Given the description of an element on the screen output the (x, y) to click on. 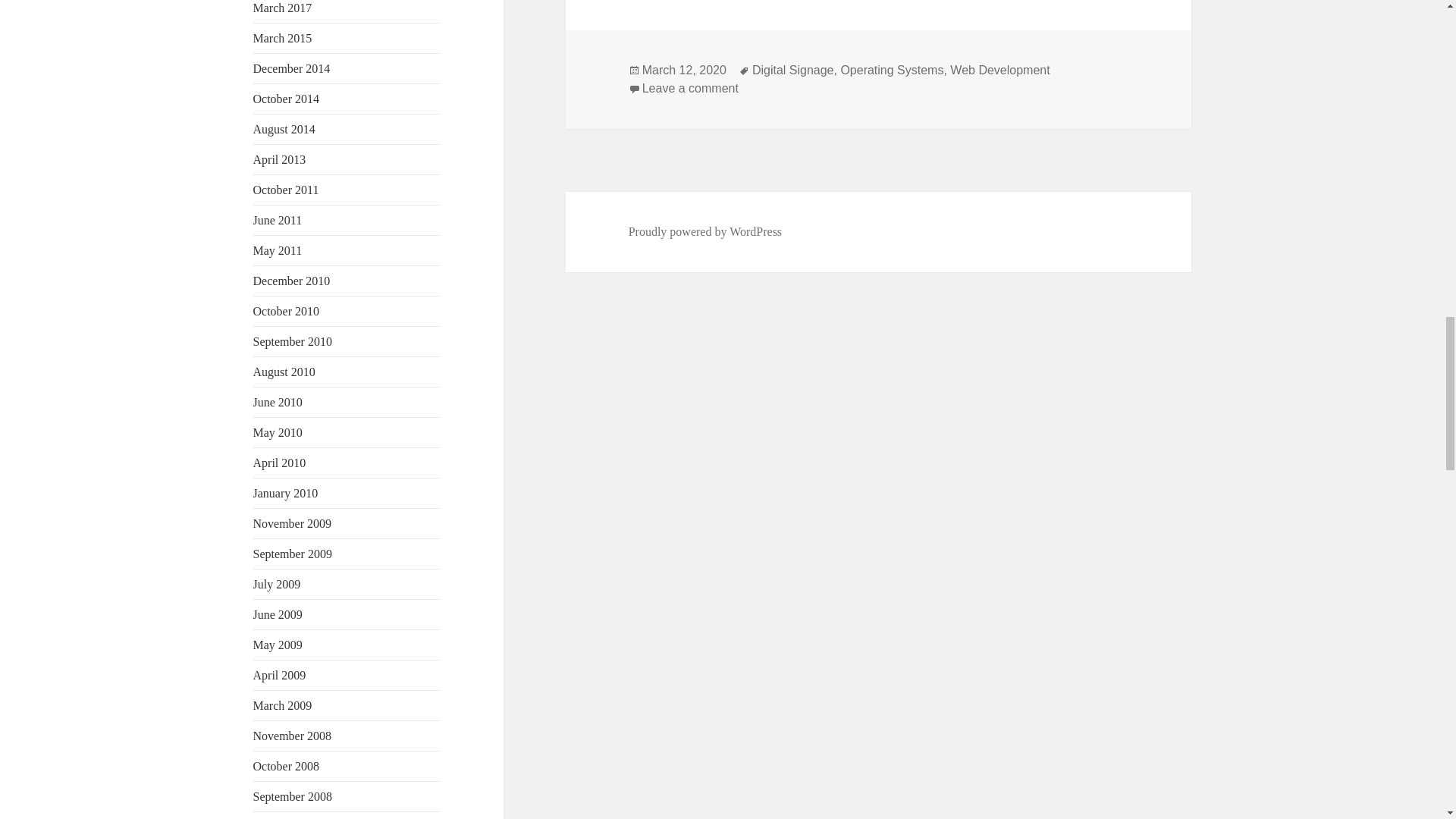
September 2010 (292, 341)
April 2013 (279, 159)
June 2011 (277, 219)
October 2010 (286, 310)
December 2010 (291, 280)
March 2017 (283, 7)
October 2014 (286, 98)
October 2011 (285, 189)
May 2011 (277, 250)
March 2015 (283, 38)
August 2014 (284, 128)
August 2010 (284, 371)
December 2014 (291, 68)
